Given the description of an element on the screen output the (x, y) to click on. 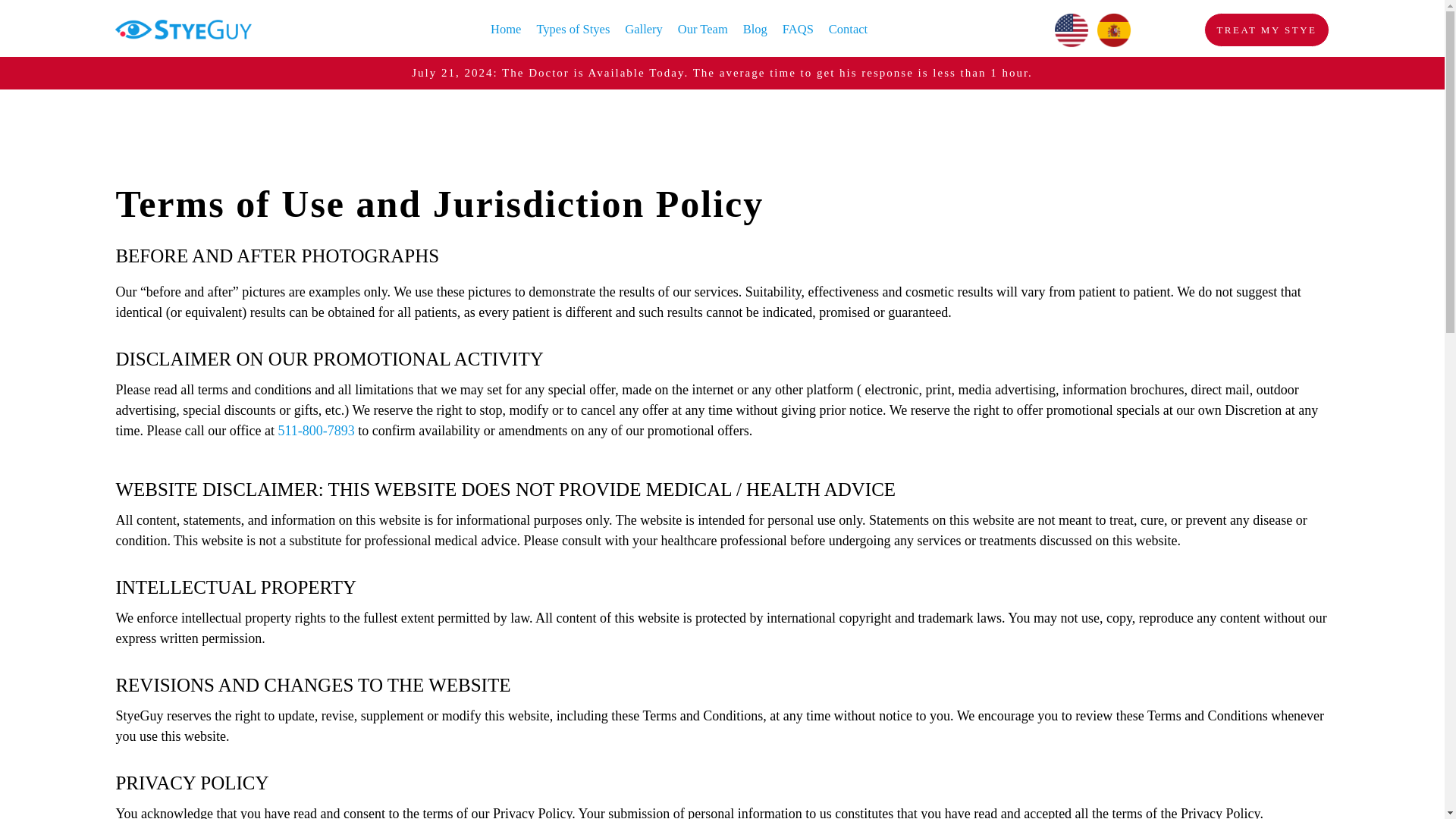
Spanish (1113, 28)
English (1071, 28)
